Given the description of an element on the screen output the (x, y) to click on. 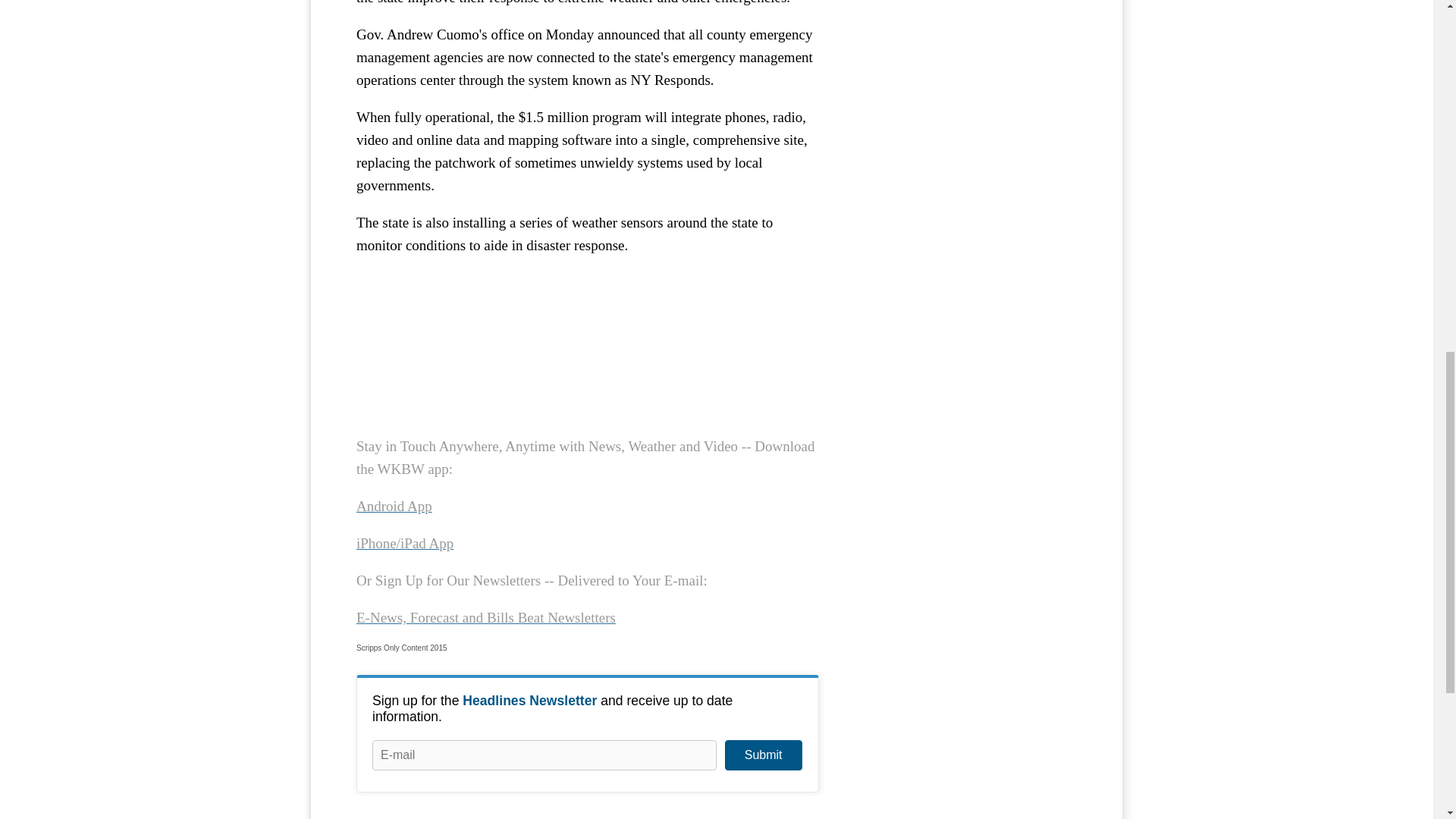
Submit (763, 755)
